Given the description of an element on the screen output the (x, y) to click on. 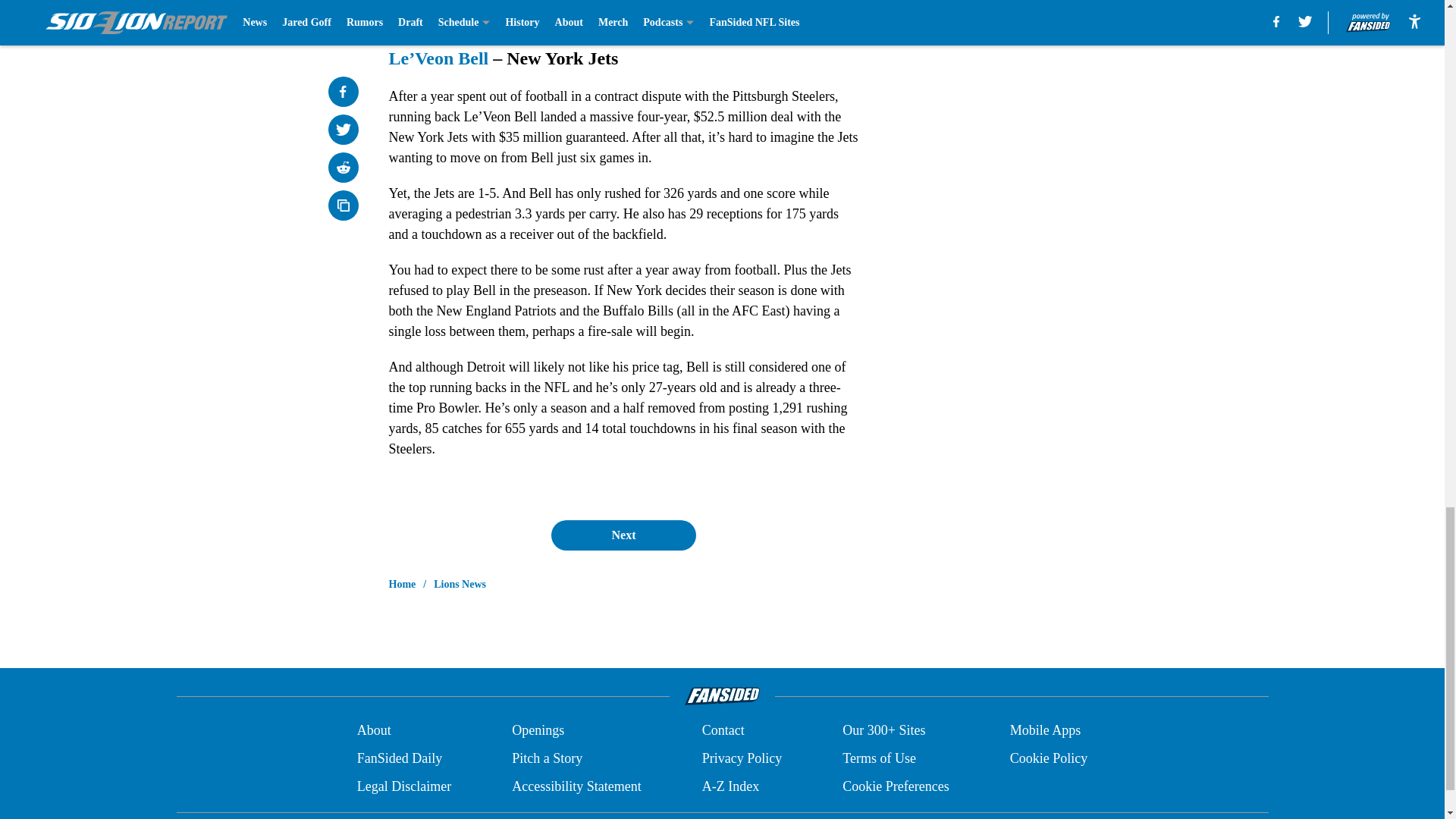
Contact (722, 730)
Mobile Apps (1045, 730)
About (373, 730)
Terms of Use (879, 758)
Home (401, 584)
Lions News (459, 584)
Pitch a Story (547, 758)
Next (622, 535)
FanSided Daily (399, 758)
Privacy Policy (742, 758)
